Given the description of an element on the screen output the (x, y) to click on. 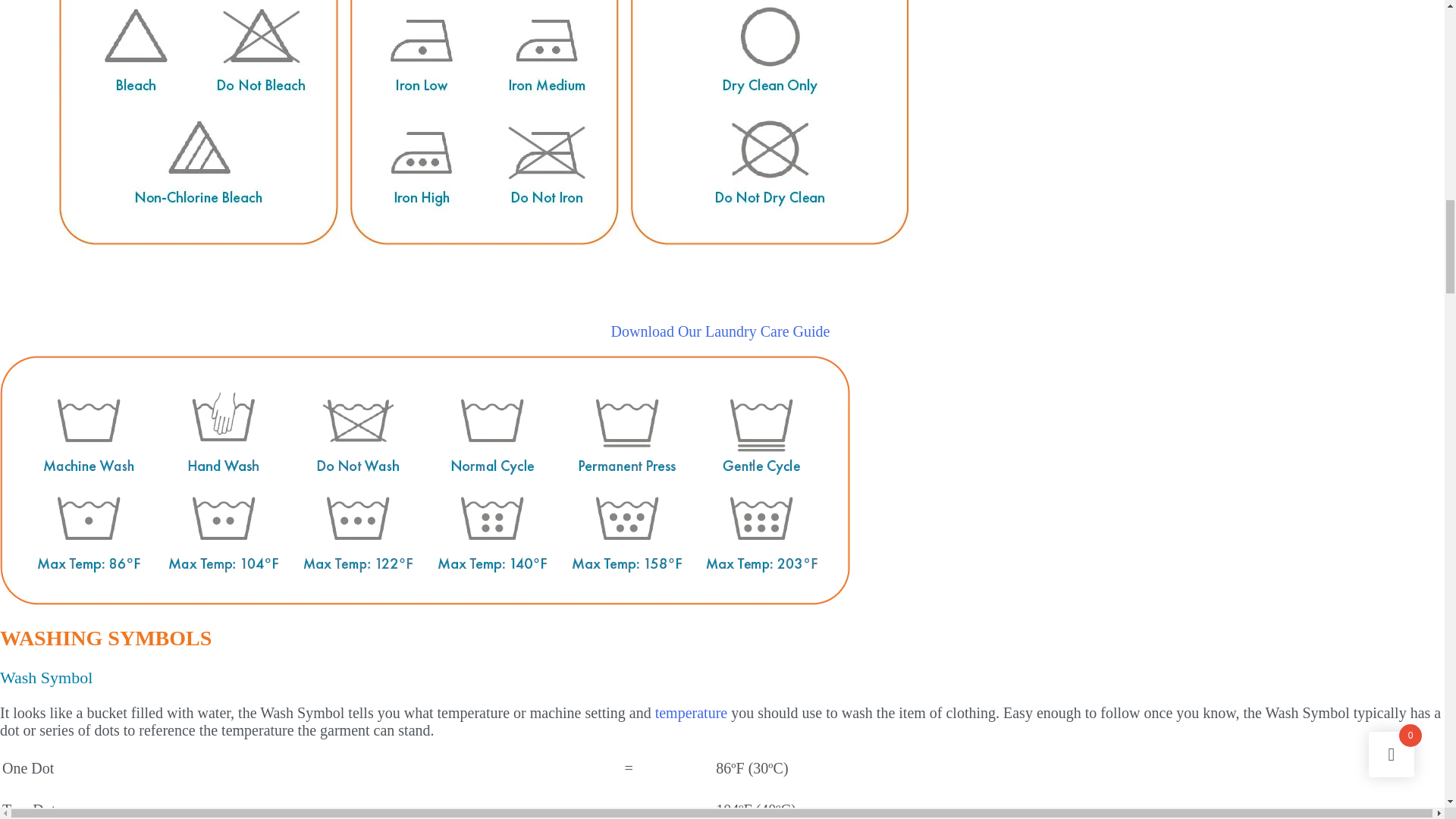
temperature (691, 712)
Download Our Laundry Care Guide (722, 330)
Choose the Best Water Temperature for Laundry (691, 712)
Download Our Laundry Care Guide  (722, 330)
